Given the description of an element on the screen output the (x, y) to click on. 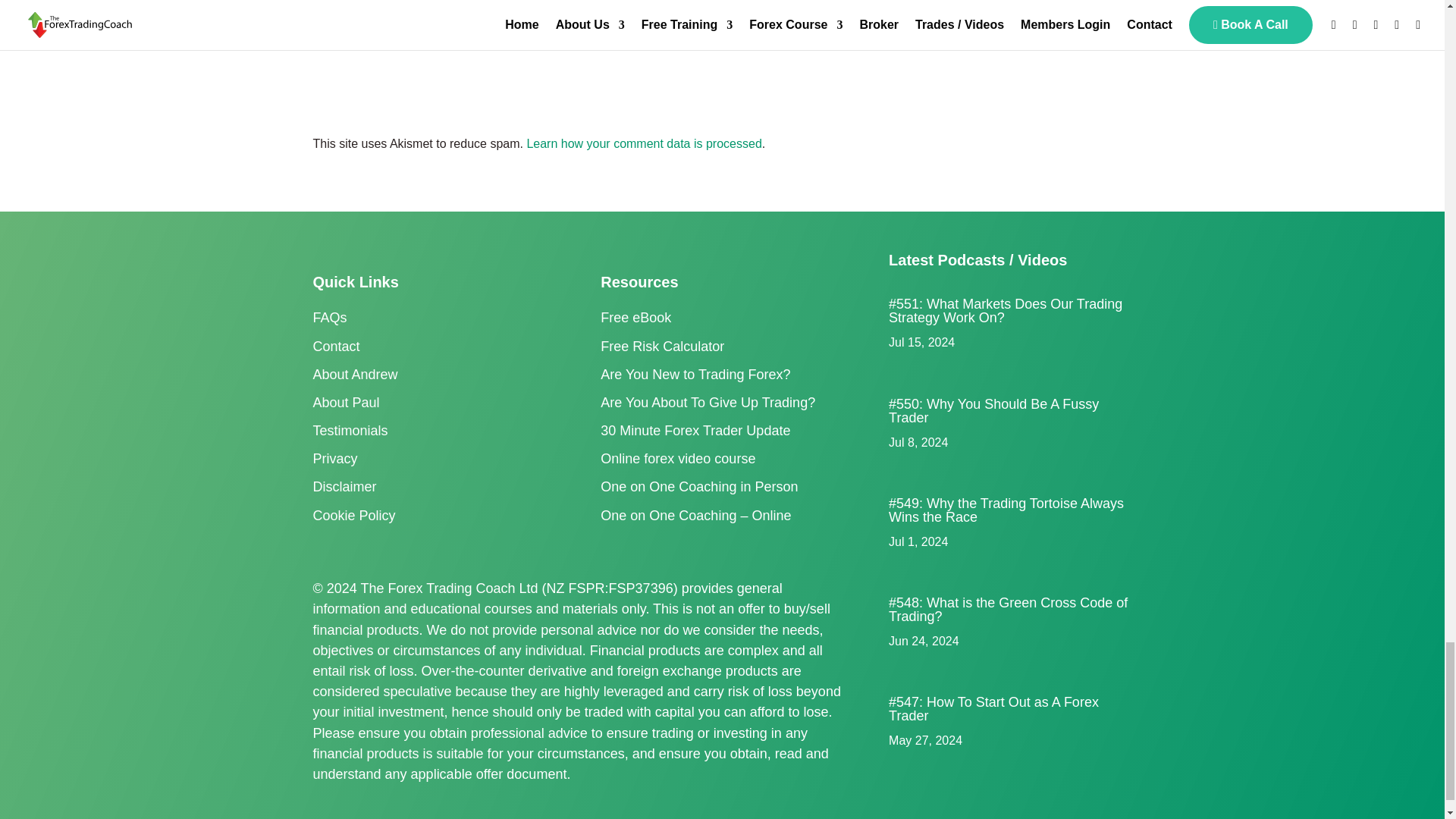
Submit Comment (748, 66)
